Given the description of an element on the screen output the (x, y) to click on. 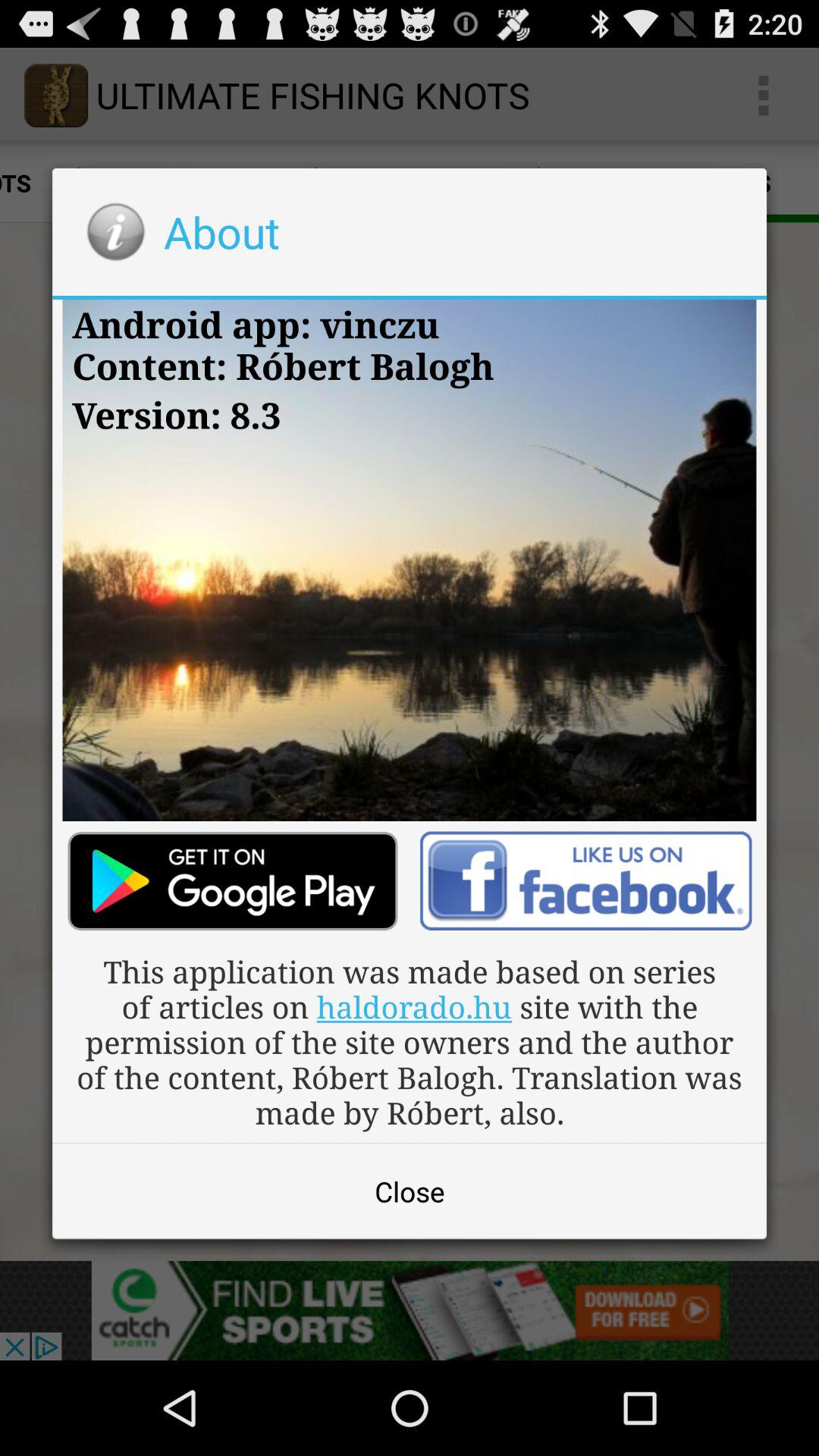
select the facebook (585, 880)
